Given the description of an element on the screen output the (x, y) to click on. 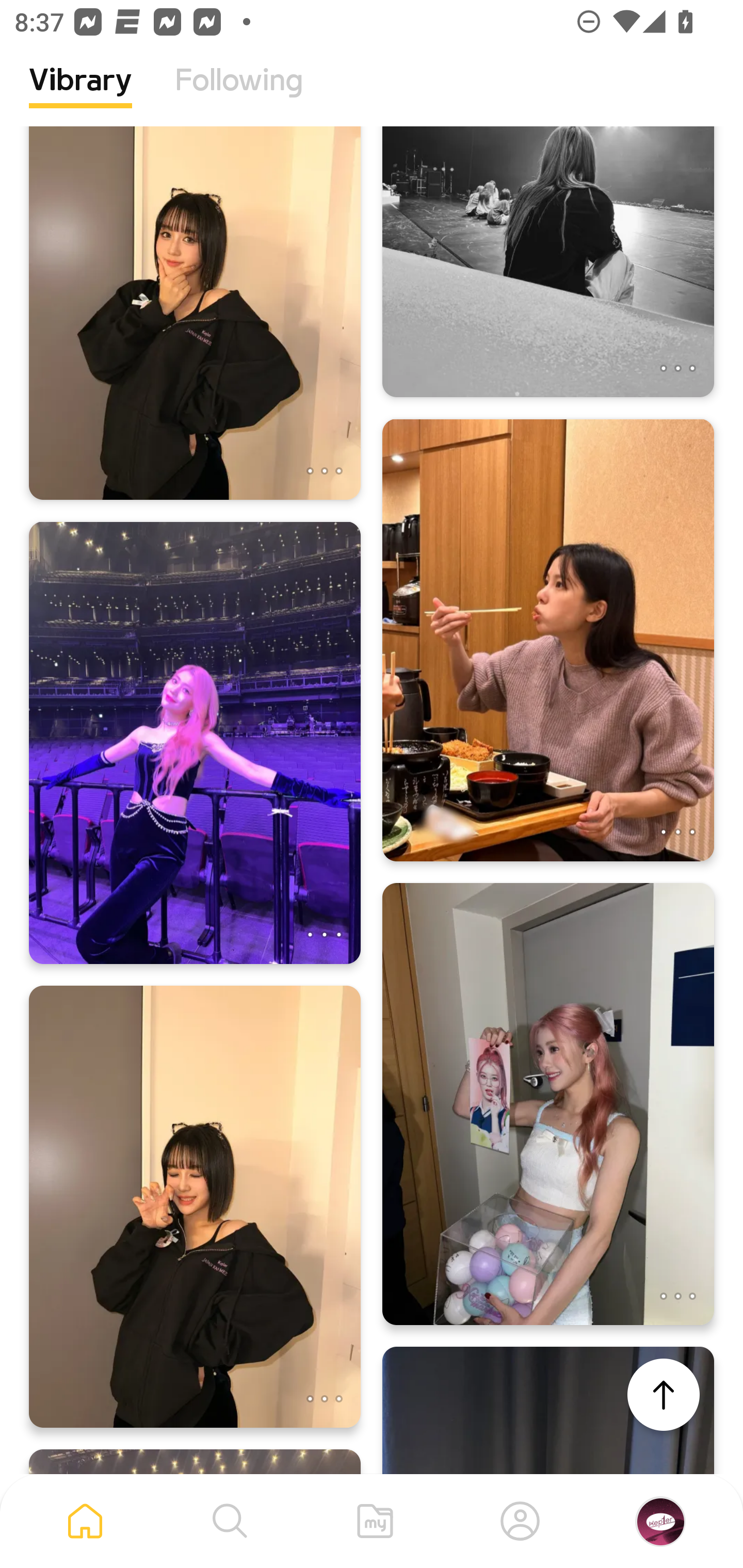
Vibrary (80, 95)
Following (239, 95)
